Given the description of an element on the screen output the (x, y) to click on. 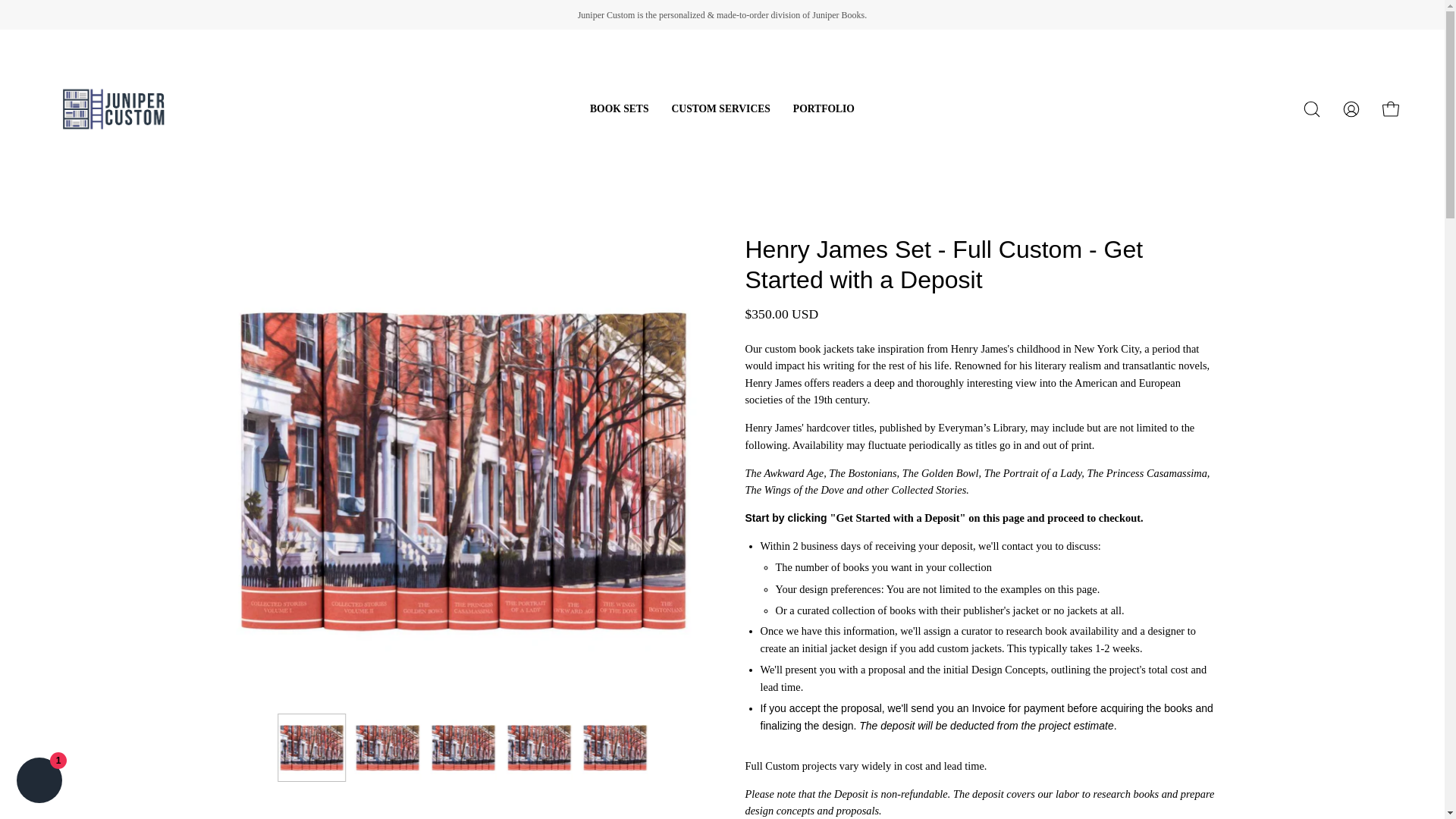
Open search bar (1311, 109)
